Given the description of an element on the screen output the (x, y) to click on. 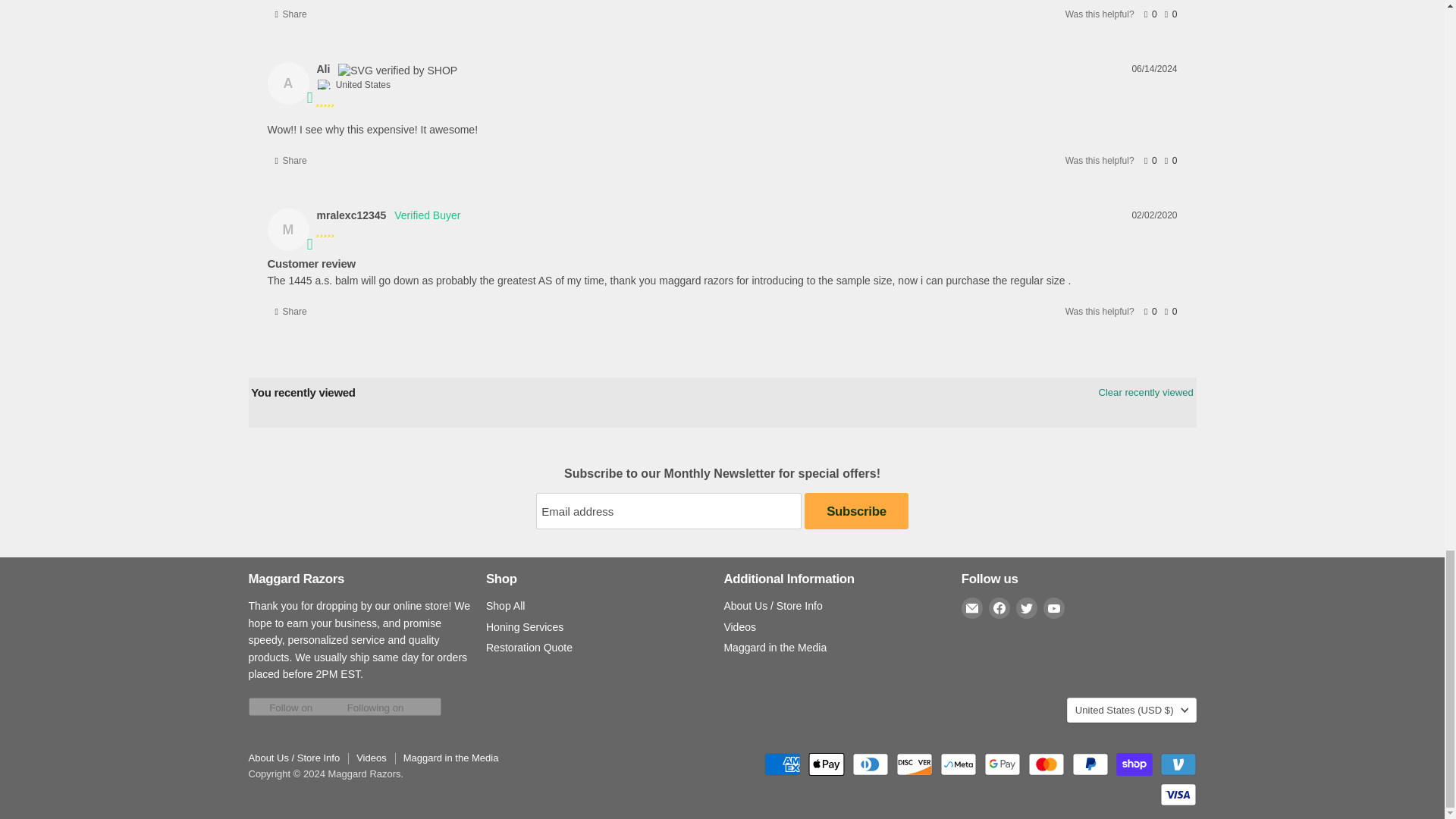
Twitter (1026, 608)
American Express (782, 763)
Facebook (999, 608)
Discover (914, 763)
YouTube (1053, 608)
Diners Club (869, 763)
Subscribe (856, 511)
Meta Pay (958, 763)
Email (971, 608)
Apple Pay (826, 763)
